Given the description of an element on the screen output the (x, y) to click on. 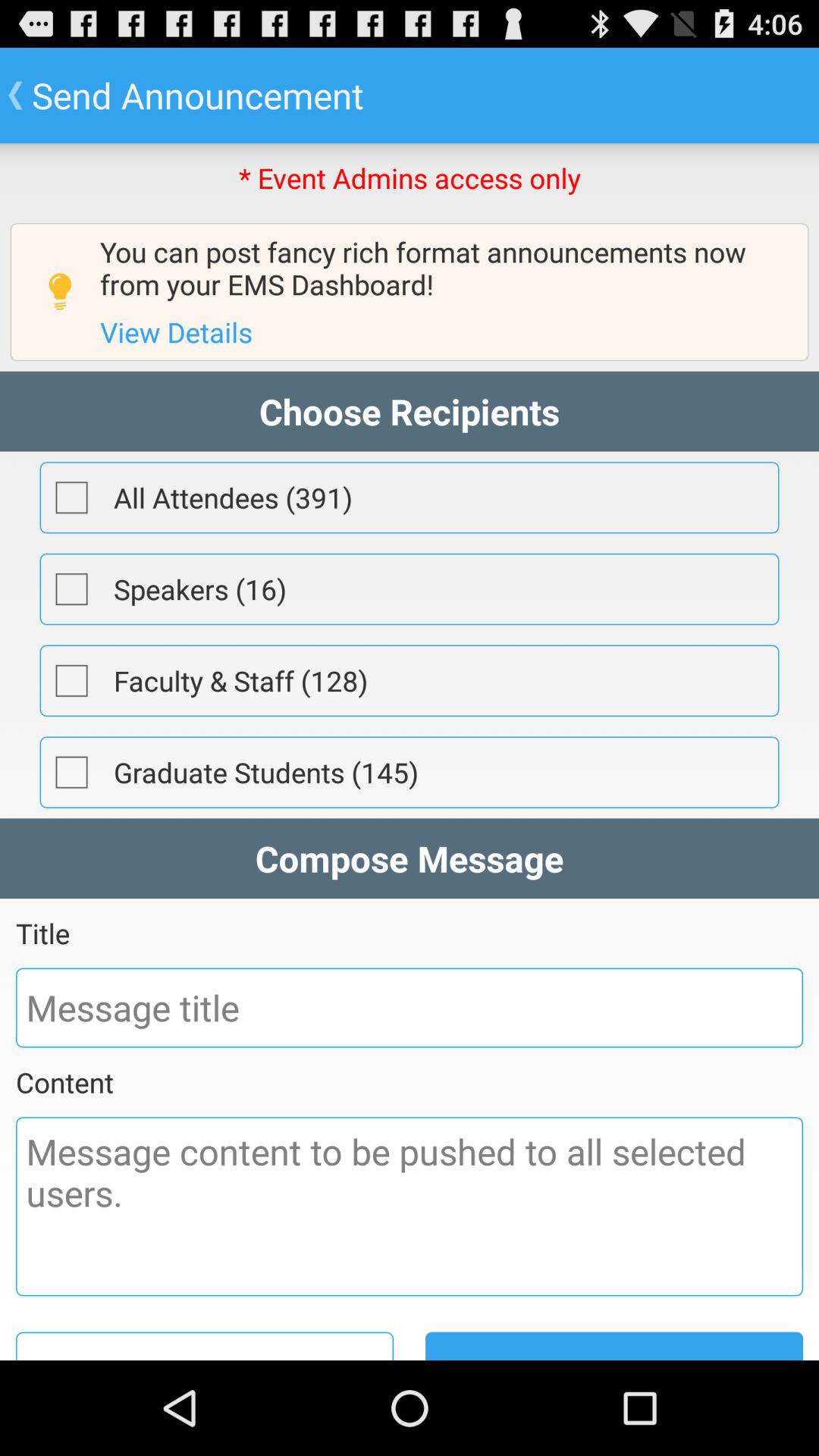
tap app below the you can post app (176, 331)
